Given the description of an element on the screen output the (x, y) to click on. 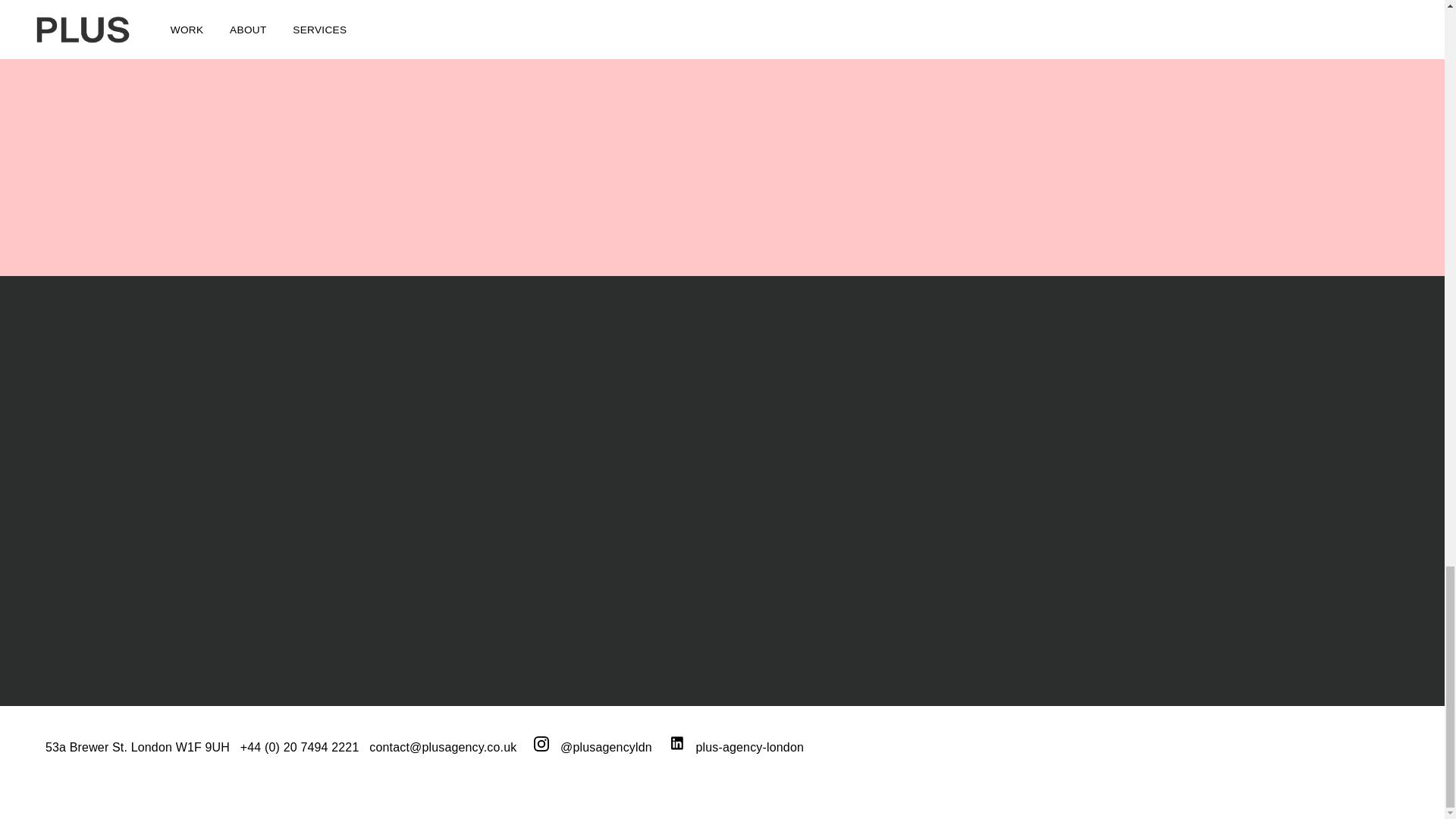
plus-agency-london (736, 747)
Subscribe (178, 605)
